Given the description of an element on the screen output the (x, y) to click on. 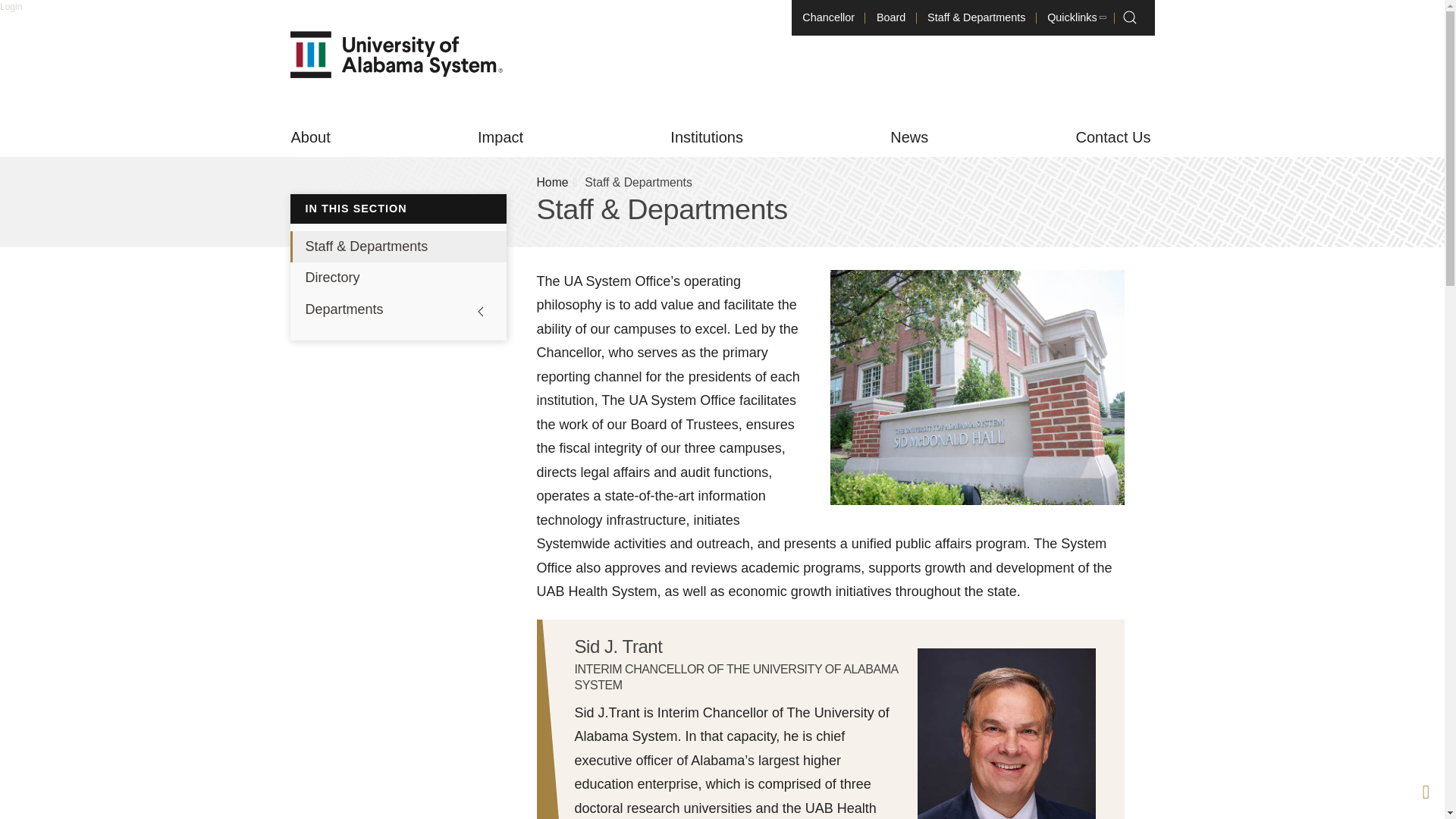
Directory (397, 278)
Institutions (706, 137)
News (908, 137)
Contact Us (1112, 137)
About (309, 137)
Home (553, 182)
Board (889, 18)
Login (10, 6)
Chancellor (829, 18)
Impact (500, 137)
